Given the description of an element on the screen output the (x, y) to click on. 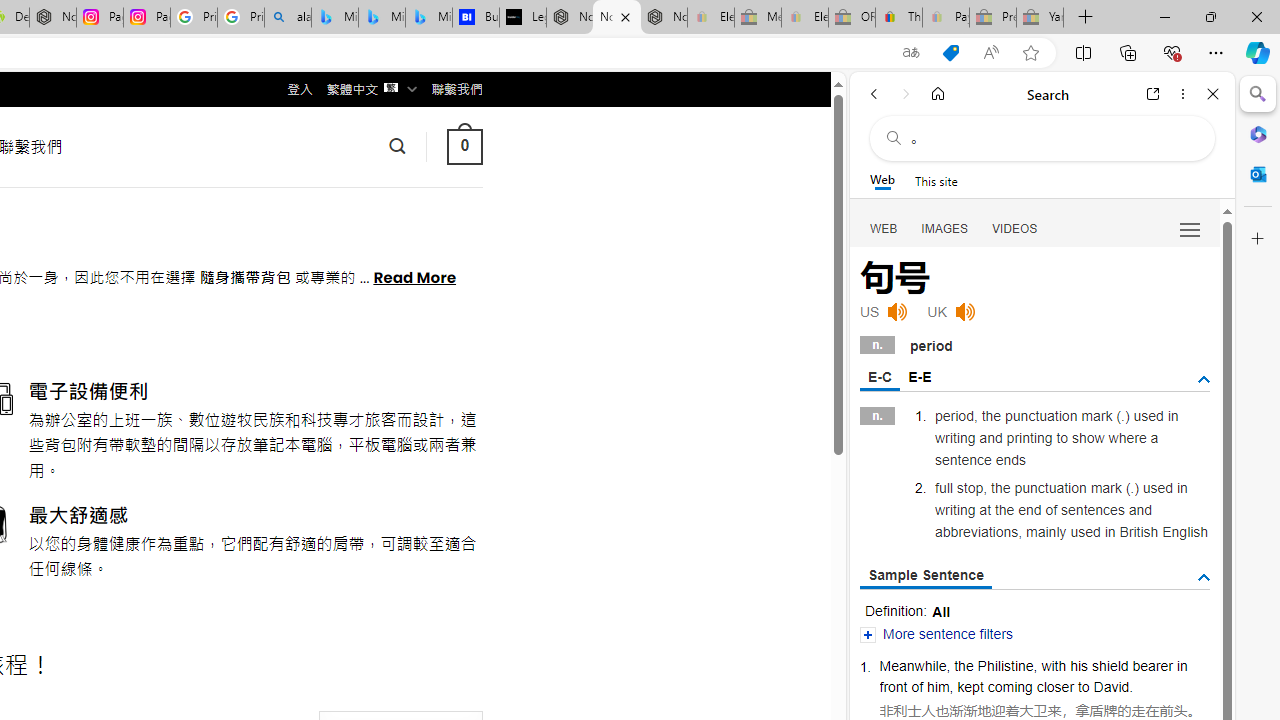
shield (1109, 665)
Threats and offensive language policy | eBay (898, 17)
in (1181, 665)
